Given the description of an element on the screen output the (x, y) to click on. 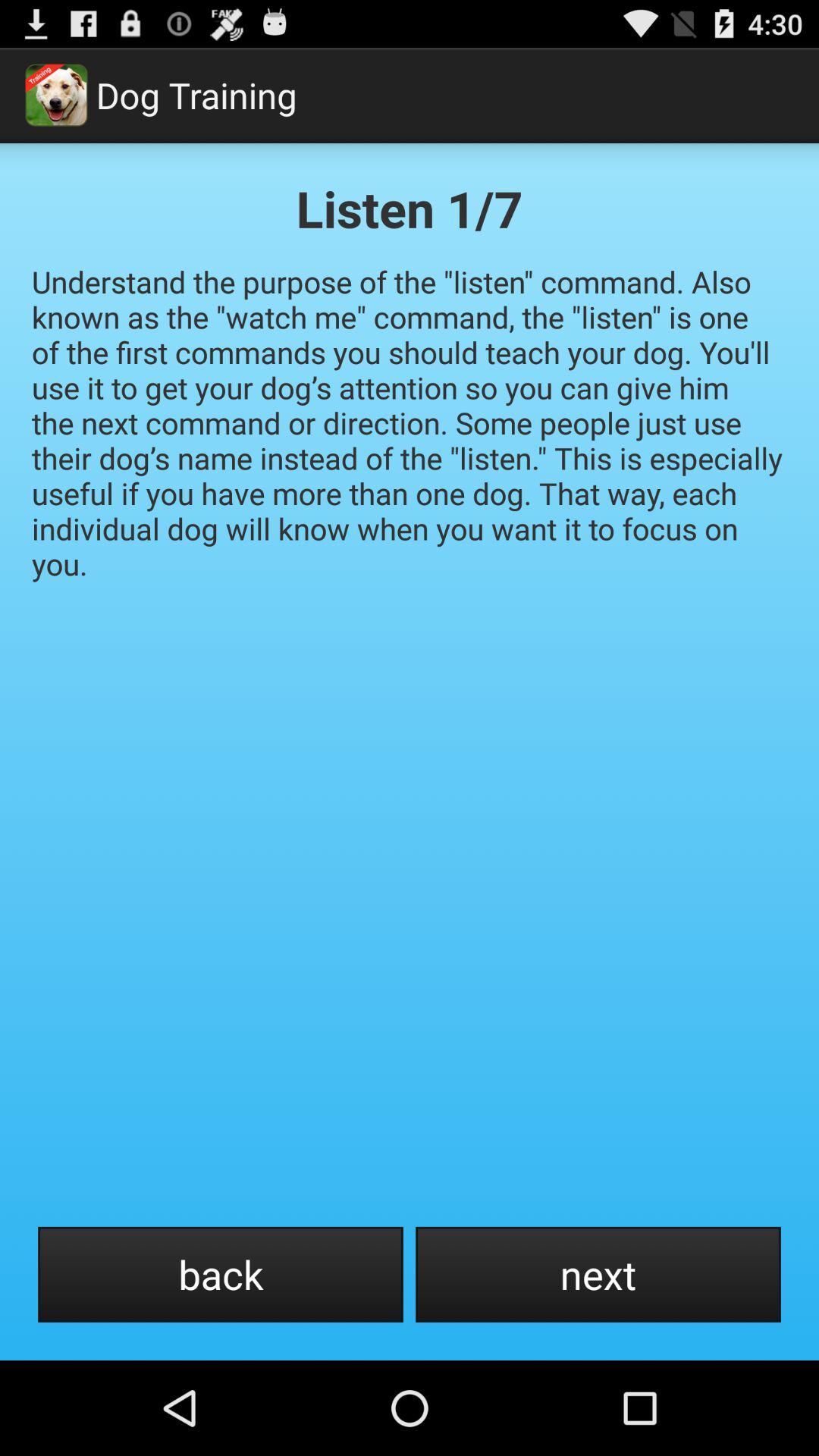
flip until the back item (220, 1274)
